Given the description of an element on the screen output the (x, y) to click on. 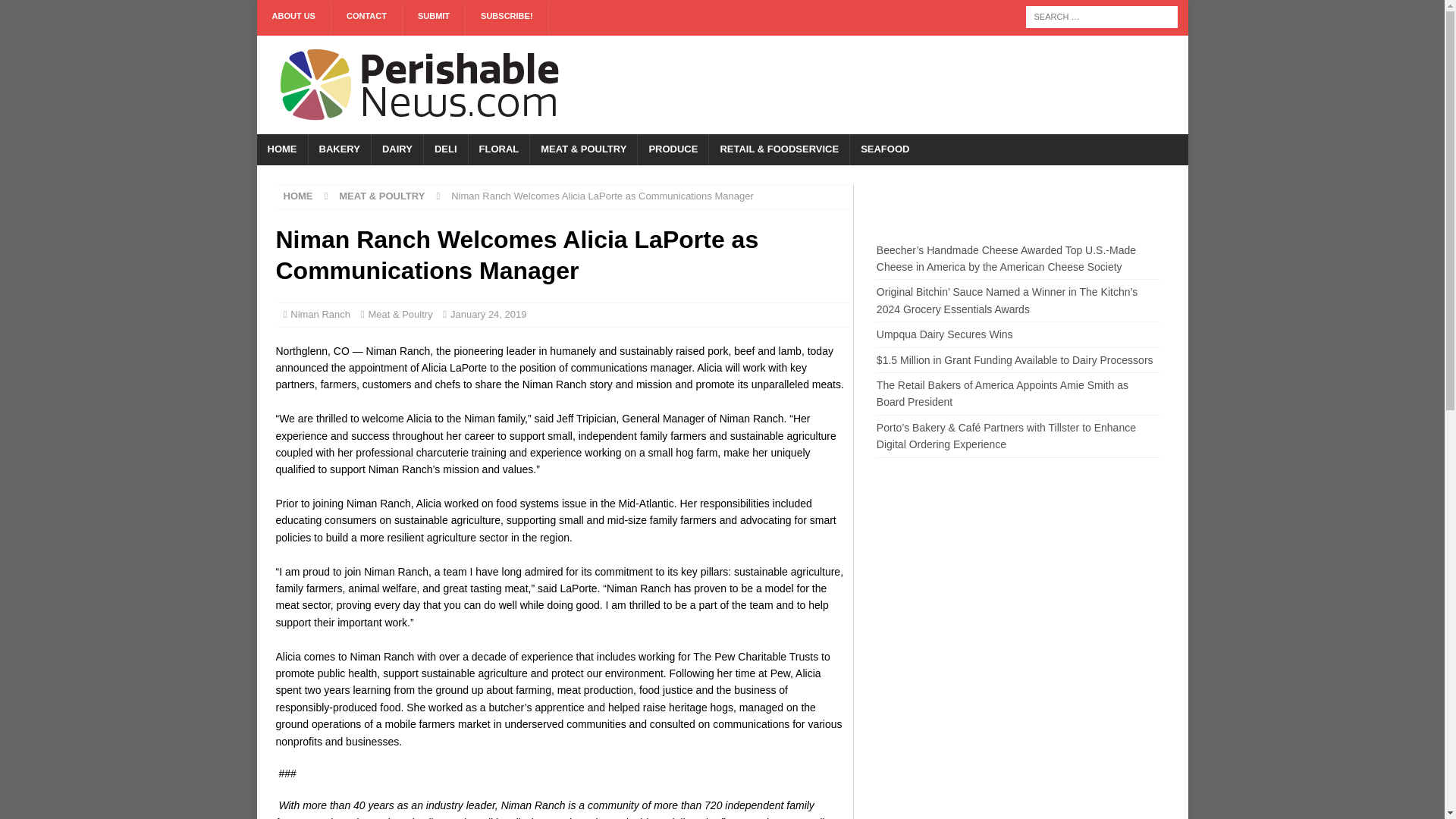
SUBSCRIBE! (506, 19)
FLORAL (498, 149)
DAIRY (397, 149)
DELI (445, 149)
SUBMIT (434, 19)
SEAFOOD (884, 149)
Search (56, 11)
ABOUT US (293, 19)
January 24, 2019 (487, 314)
BAKERY (339, 149)
